Given the description of an element on the screen output the (x, y) to click on. 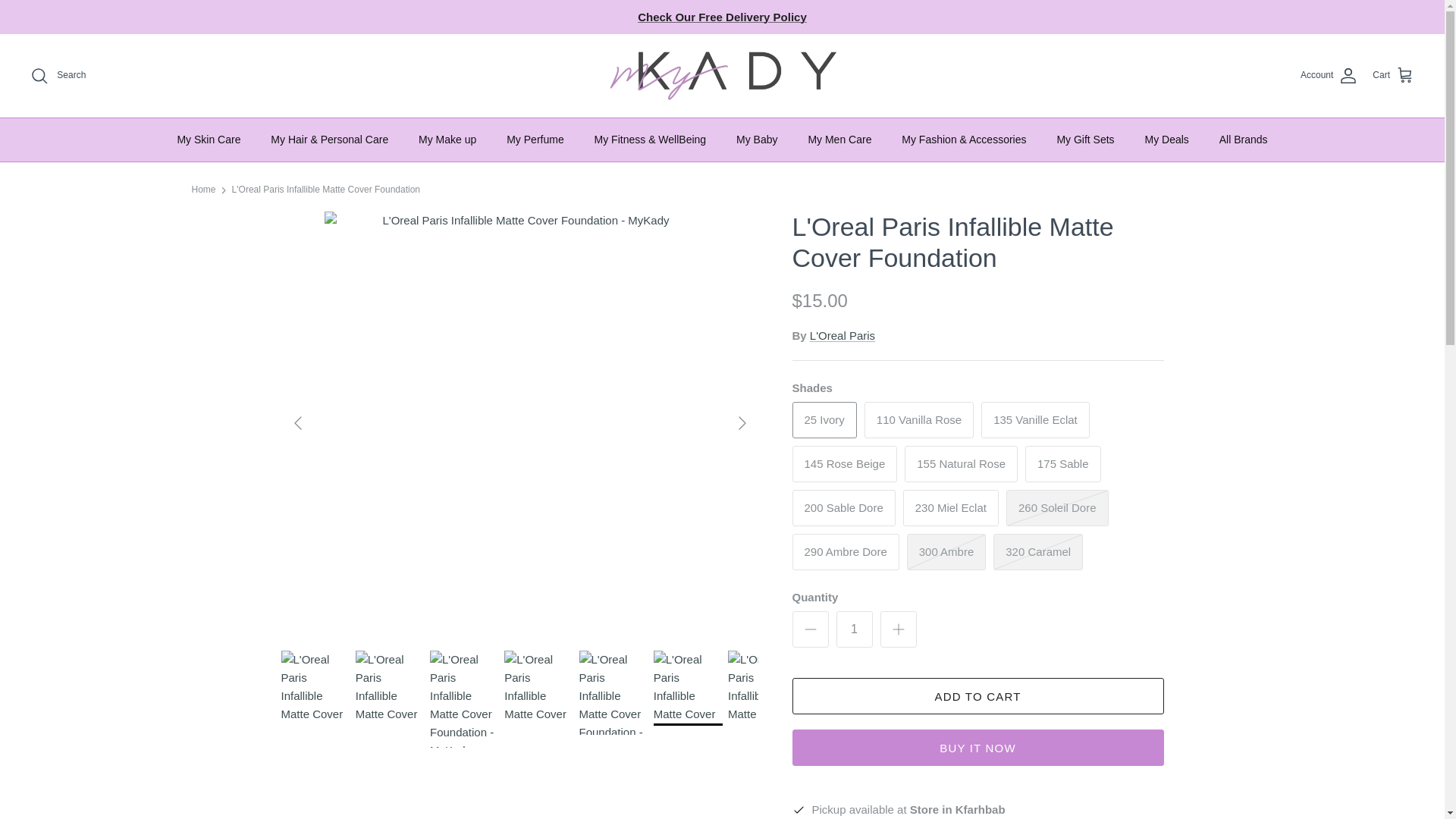
Account (1328, 75)
Shipping Policy (721, 16)
MyKady (721, 75)
Cart (1393, 75)
Minus (809, 628)
LEFT (296, 422)
RIGHT (741, 422)
Plus (897, 628)
My Skin Care (208, 139)
1 (853, 628)
Search (57, 75)
Check Our Free Delivery Policy (721, 16)
